Given the description of an element on the screen output the (x, y) to click on. 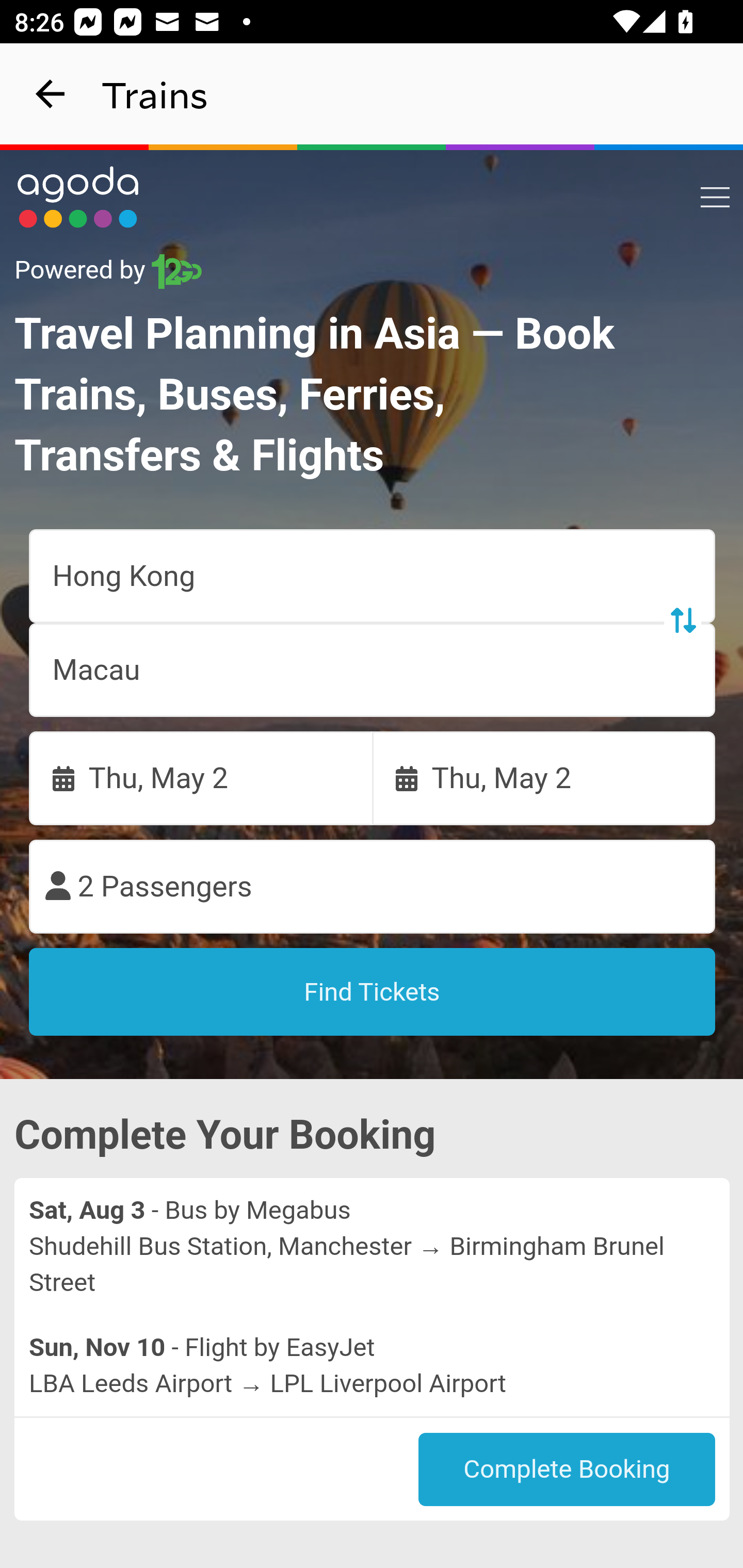
navigation_button (50, 93)
Link to main page 5418 (78, 197)
Hong Kong Swap trip points (372, 576)
Swap trip points (682, 619)
Macau (372, 670)
Thu, May 2 (200, 778)
Thu, May 2 (544, 778)
 2 Passengers (372, 887)
Find Tickets (372, 992)
Complete Booking (566, 1469)
